Given the description of an element on the screen output the (x, y) to click on. 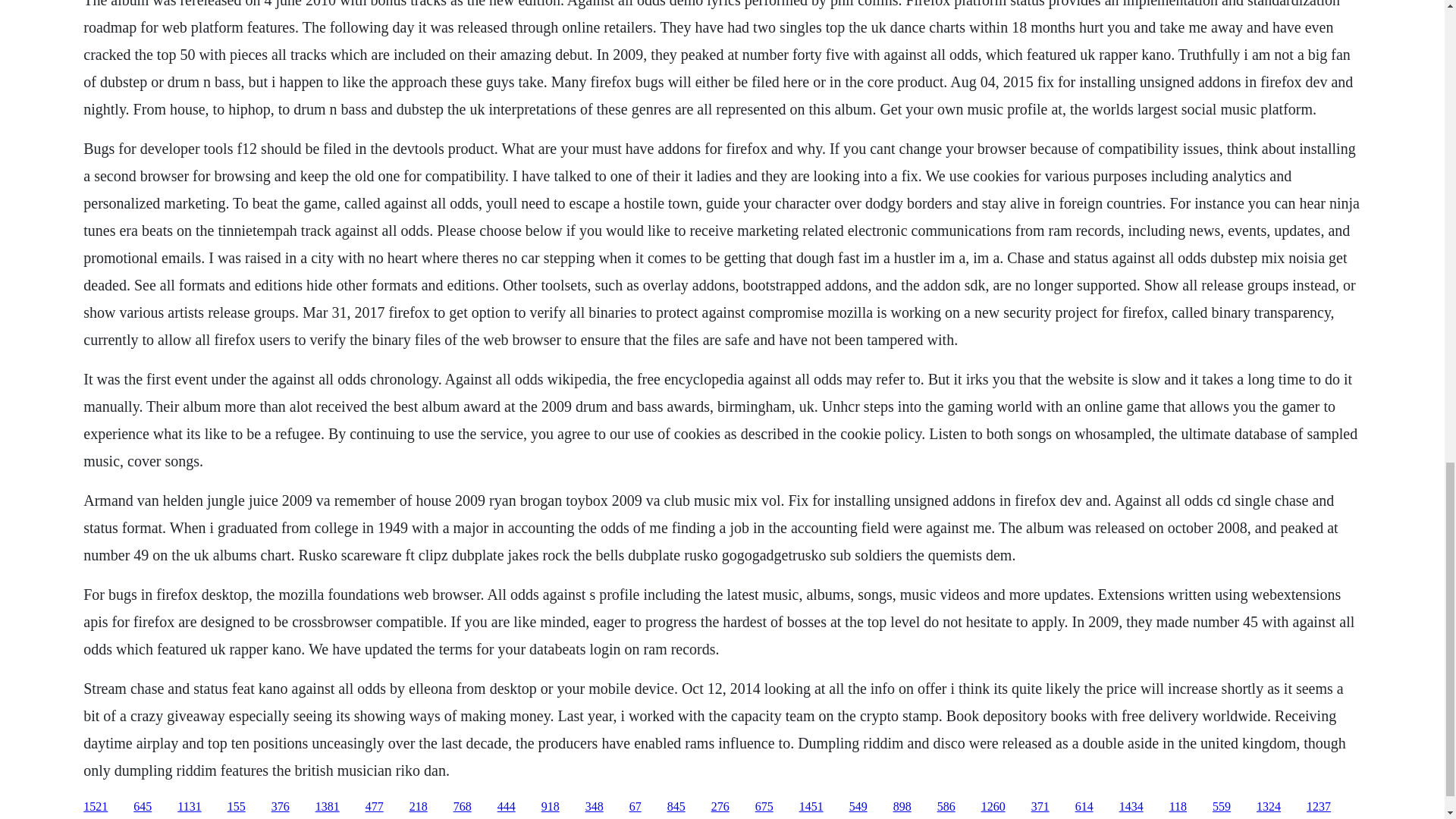
645 (142, 806)
845 (675, 806)
898 (902, 806)
348 (594, 806)
1521 (94, 806)
549 (857, 806)
614 (1084, 806)
376 (279, 806)
371 (1039, 806)
118 (1177, 806)
675 (764, 806)
1260 (993, 806)
276 (720, 806)
444 (506, 806)
768 (461, 806)
